Given the description of an element on the screen output the (x, y) to click on. 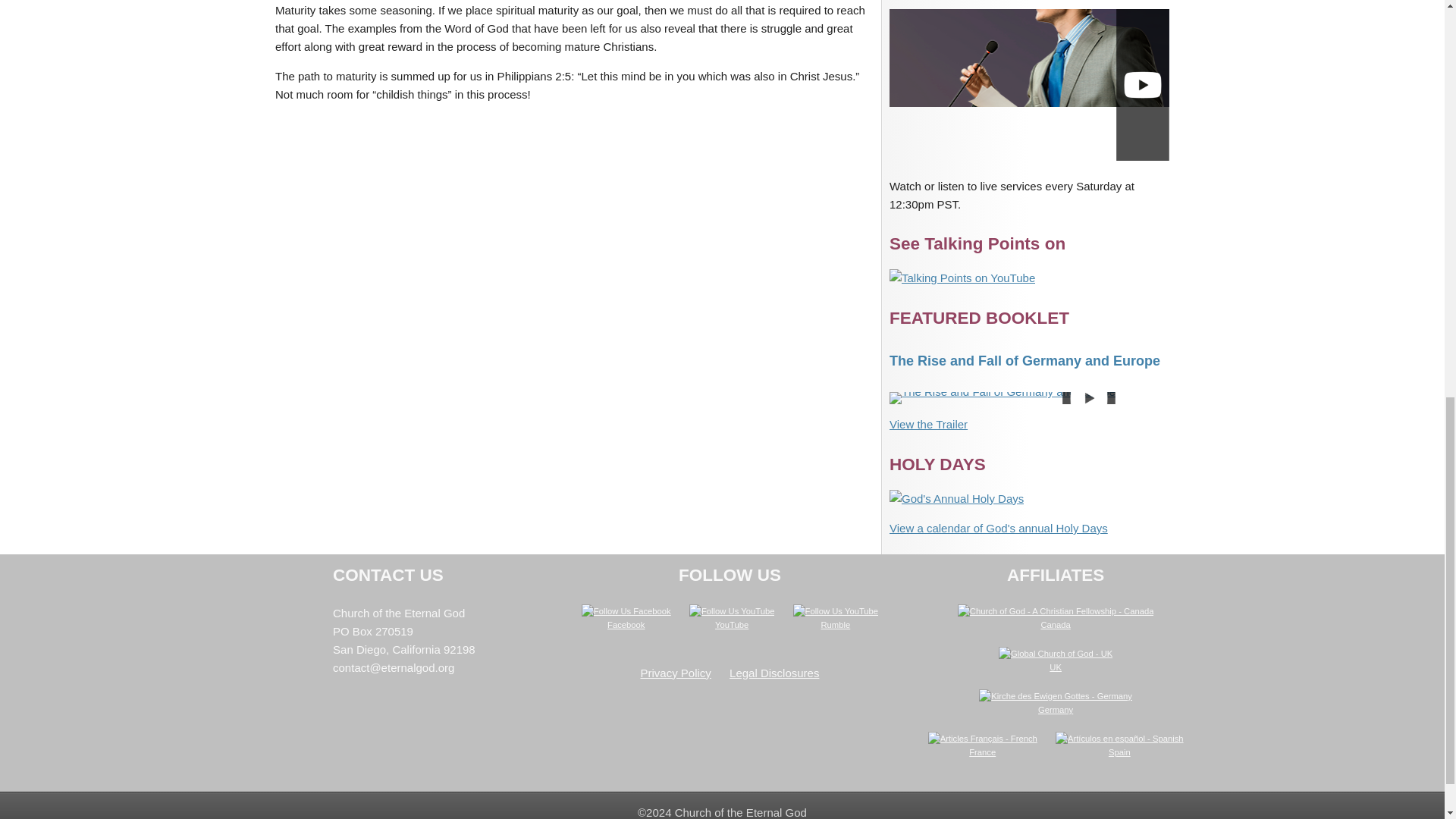
Follow Us YouTube (836, 611)
God's Annual Holy Days (956, 498)
Follow Us Facebook (625, 611)
Global Church of God - UK (1055, 653)
Church of God - A Christian Fellowship - Canada (1056, 611)
Kirche des Ewigen Gottes - Germany (1055, 695)
Follow Us YouTube (731, 611)
Live Church Services (1029, 84)
